Given the description of an element on the screen output the (x, y) to click on. 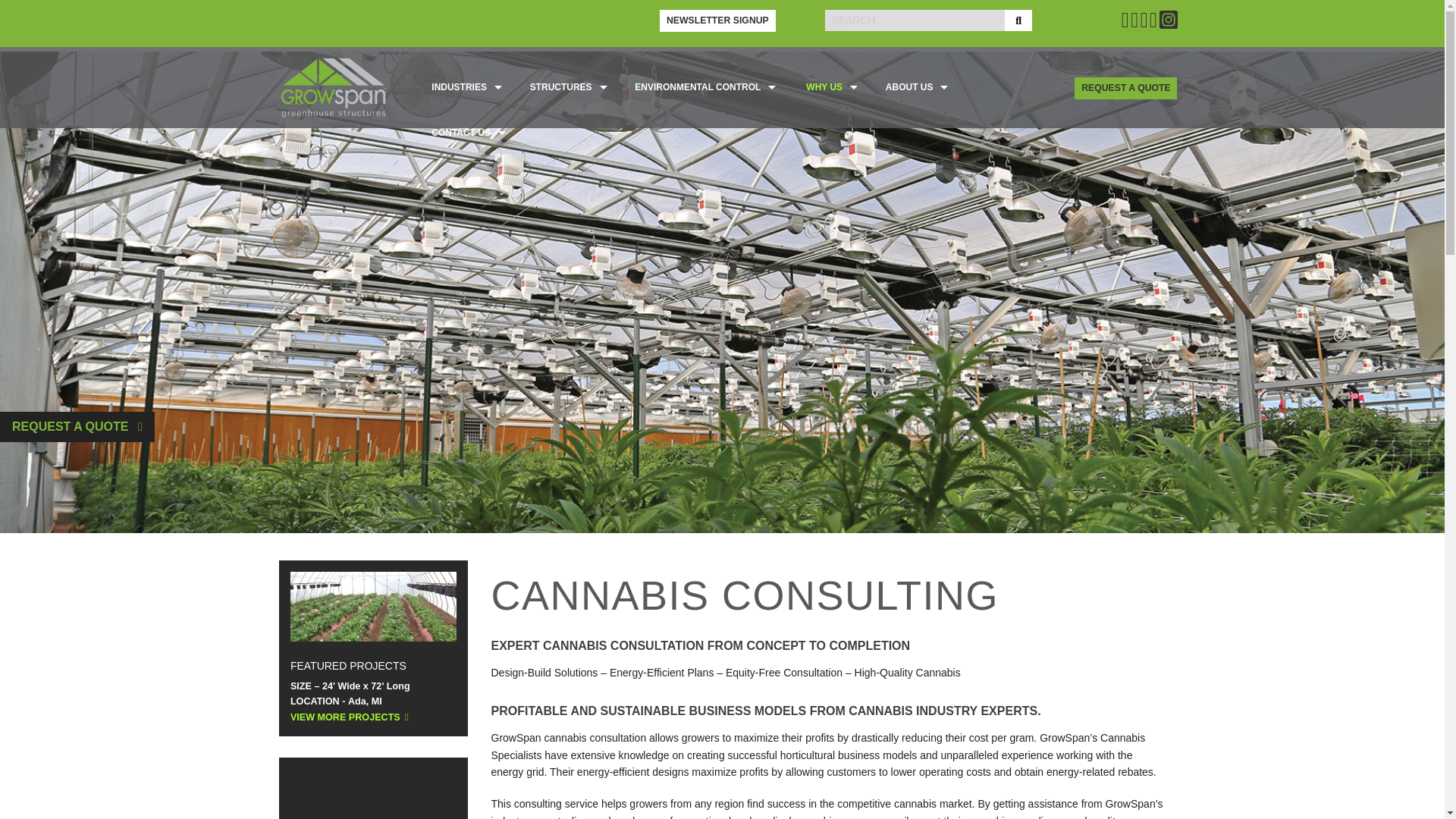
Search for: (914, 19)
NEWSLETTER SIGNUP (716, 20)
